Given the description of an element on the screen output the (x, y) to click on. 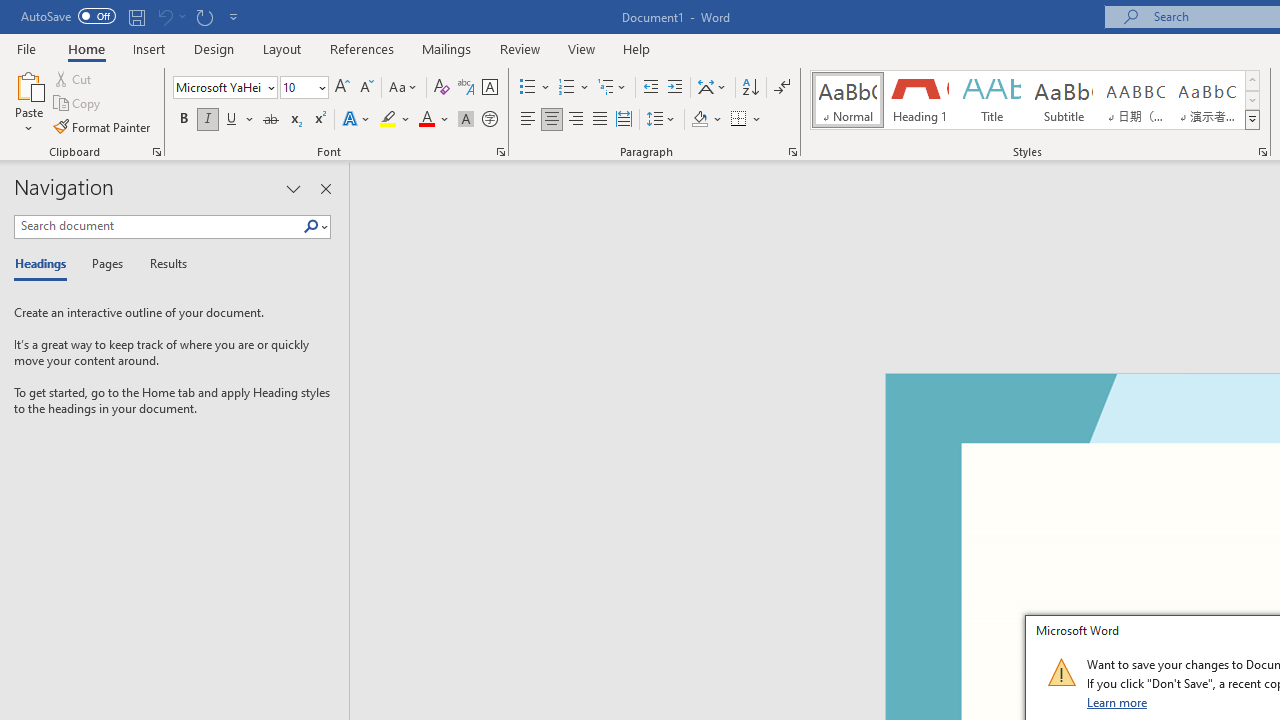
Title (991, 100)
